Given the description of an element on the screen output the (x, y) to click on. 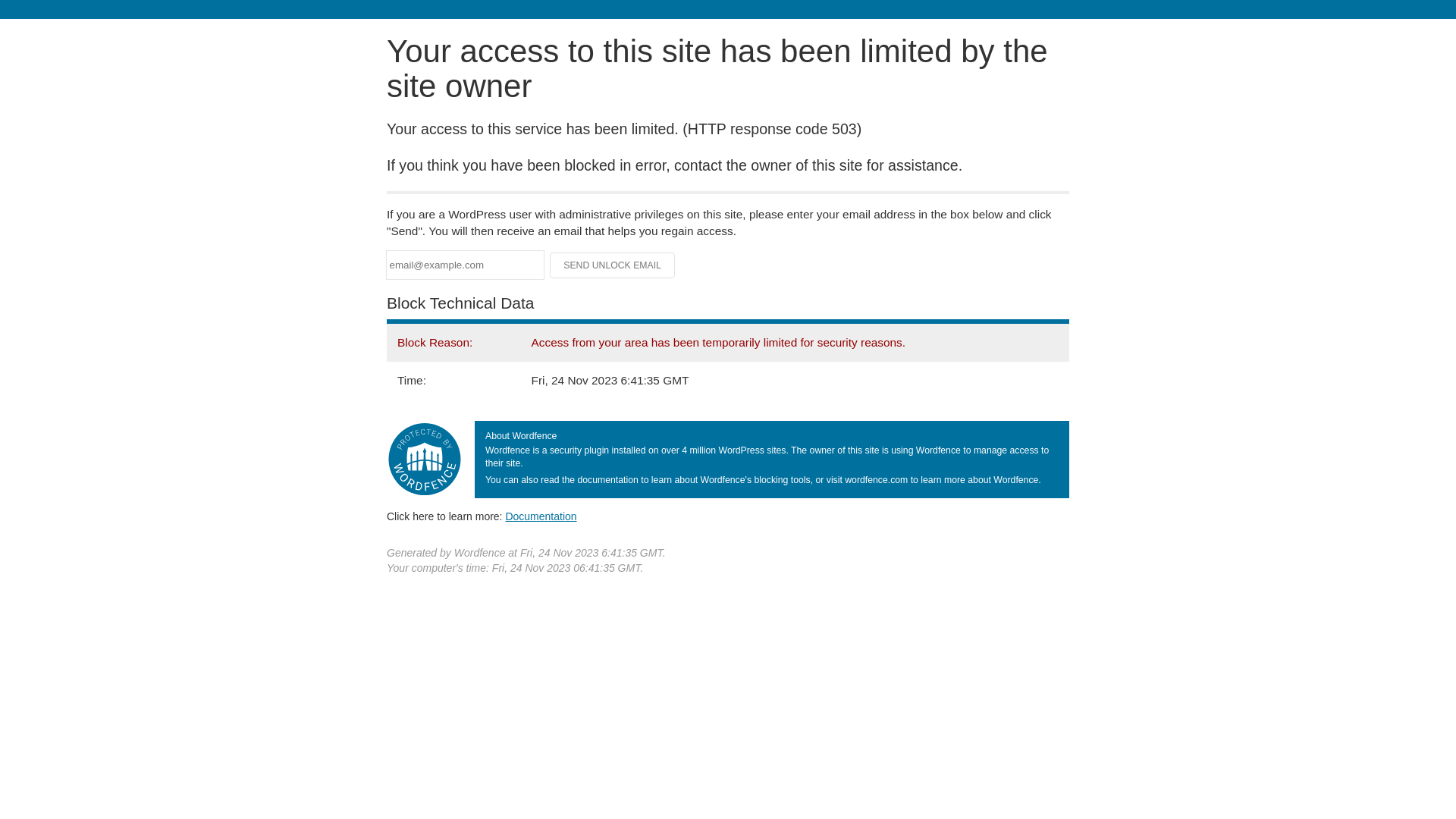
Send Unlock Email Element type: text (612, 265)
Documentation Element type: text (540, 516)
